Given the description of an element on the screen output the (x, y) to click on. 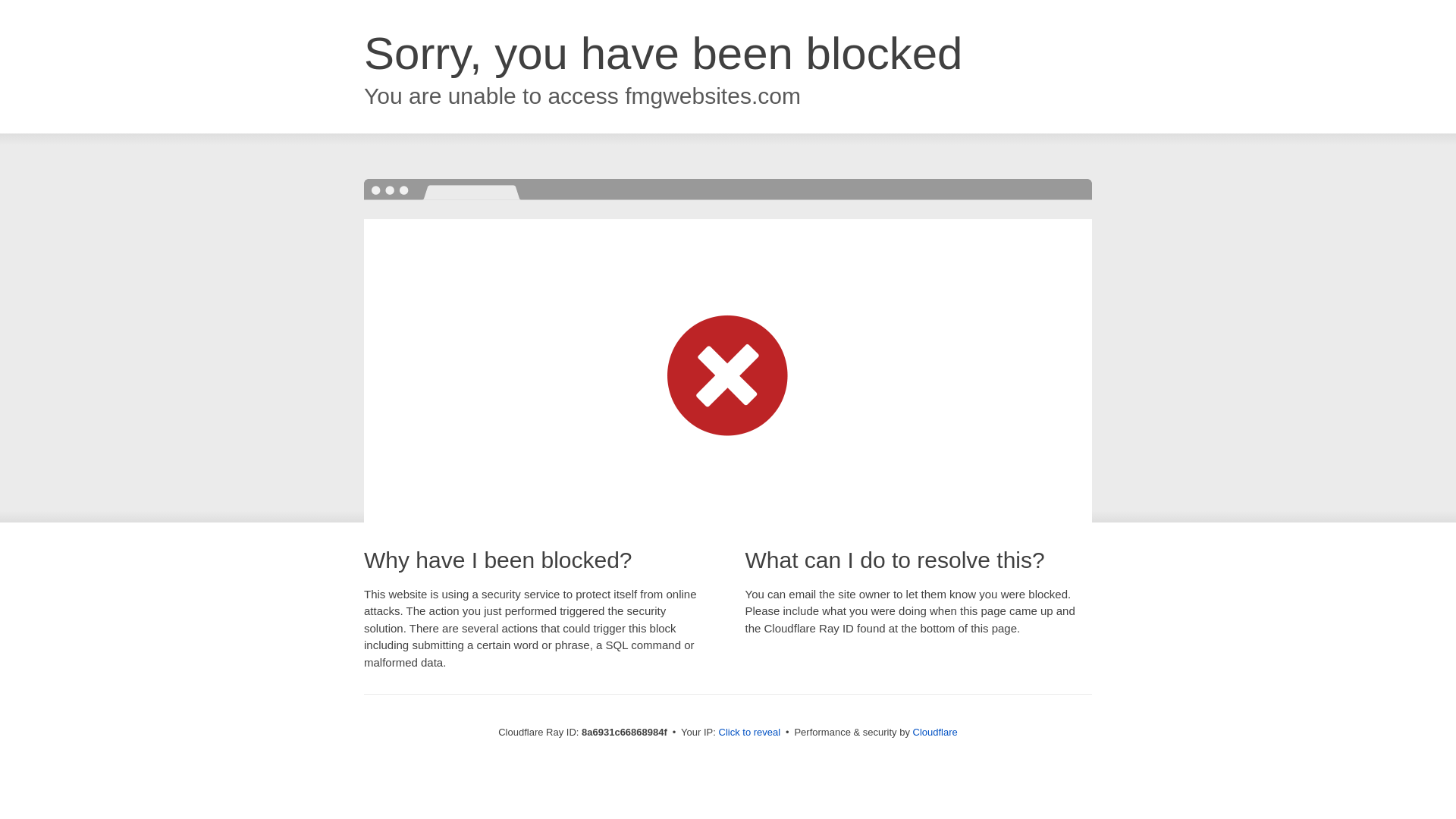
Cloudflare (935, 731)
Click to reveal (749, 732)
